Given the description of an element on the screen output the (x, y) to click on. 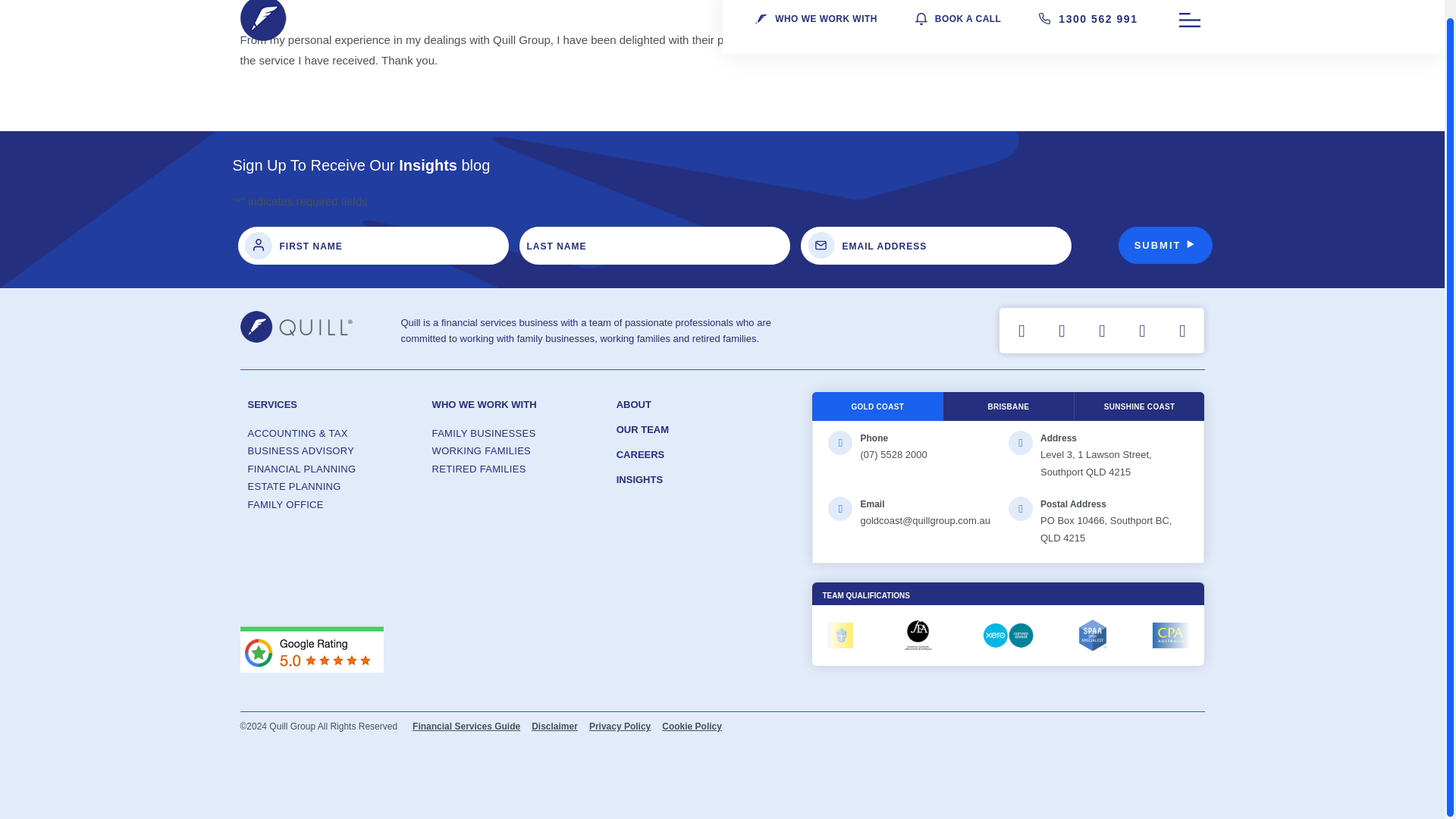
OUR TEAM (641, 429)
FAMILY OFFICE (331, 504)
Submit (1165, 241)
BOOK A CALL (967, 18)
Menu (1189, 20)
FINANCIAL PLANNING (331, 469)
RETIRED FAMILIES (516, 468)
CAREERS (640, 454)
1300 562 991 (1097, 18)
WHO WE WORK WITH (484, 404)
SERVICES (272, 405)
Submit (1165, 244)
Level 3, 1 Lawson Street, Southport QLD 4215 (1096, 462)
FAMILY BUSINESSES (516, 433)
WORKING FAMILIES (516, 451)
